Given the description of an element on the screen output the (x, y) to click on. 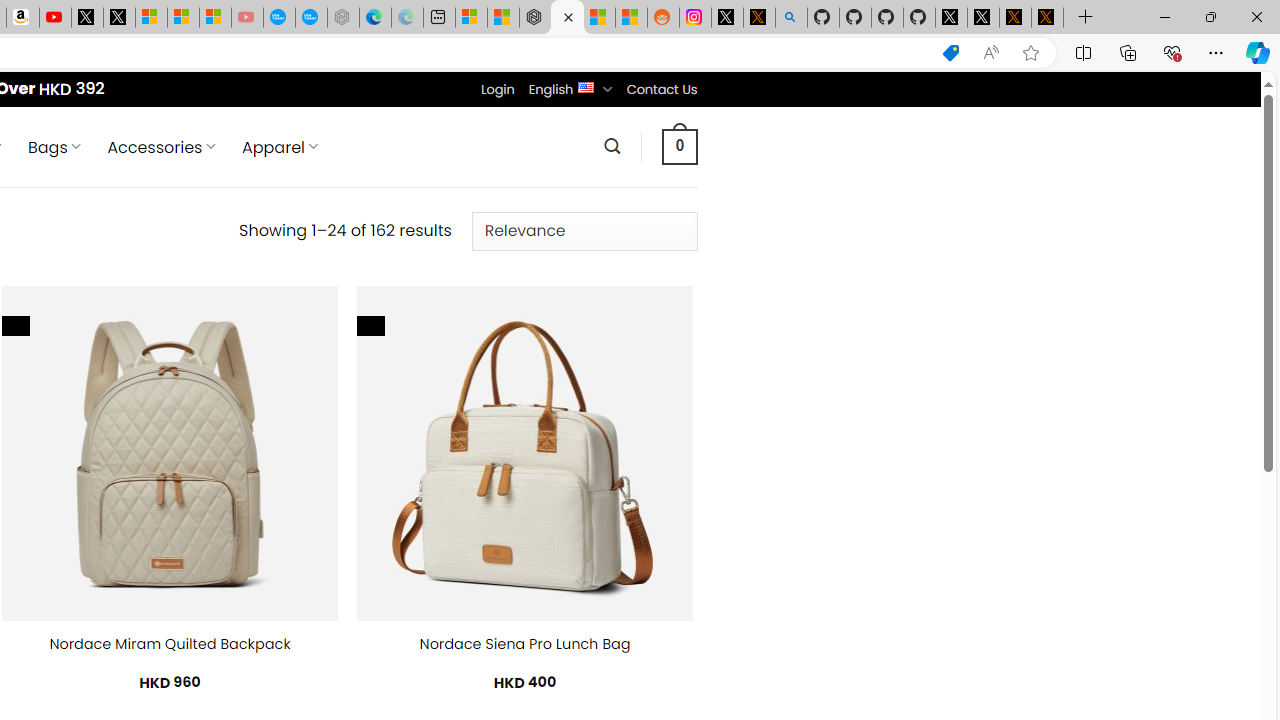
Nordace Miram Quilted Backpack (169, 643)
Login (497, 89)
Browser essentials (1171, 52)
Settings and more (Alt+F) (1215, 52)
Read aloud this page (Ctrl+Shift+U) (991, 53)
  0   (679, 146)
GitHub (@github) / X (983, 17)
X (118, 17)
Minimize (1164, 16)
 0  (679, 146)
